Given the description of an element on the screen output the (x, y) to click on. 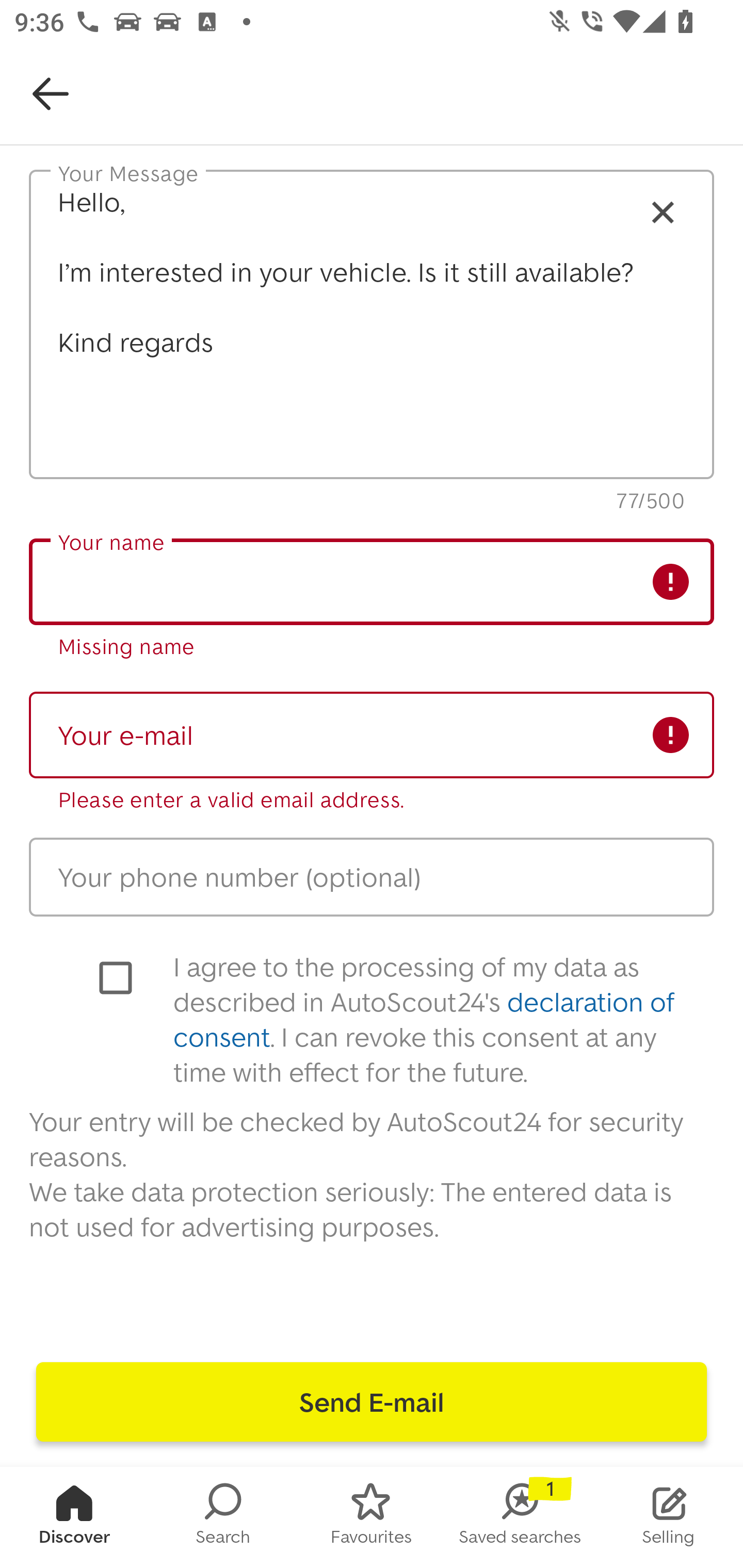
Navigate up (50, 93)
Your name (371, 581)
Your e-mail (371, 734)
Your phone number (optional) (371, 877)
Send E-mail (371, 1401)
HOMESCREEN Discover (74, 1517)
SEARCH Search (222, 1517)
FAVORITES Favourites (371, 1517)
SAVED_SEARCHES Saved searches 1 (519, 1517)
STOCK_LIST Selling (668, 1517)
